Given the description of an element on the screen output the (x, y) to click on. 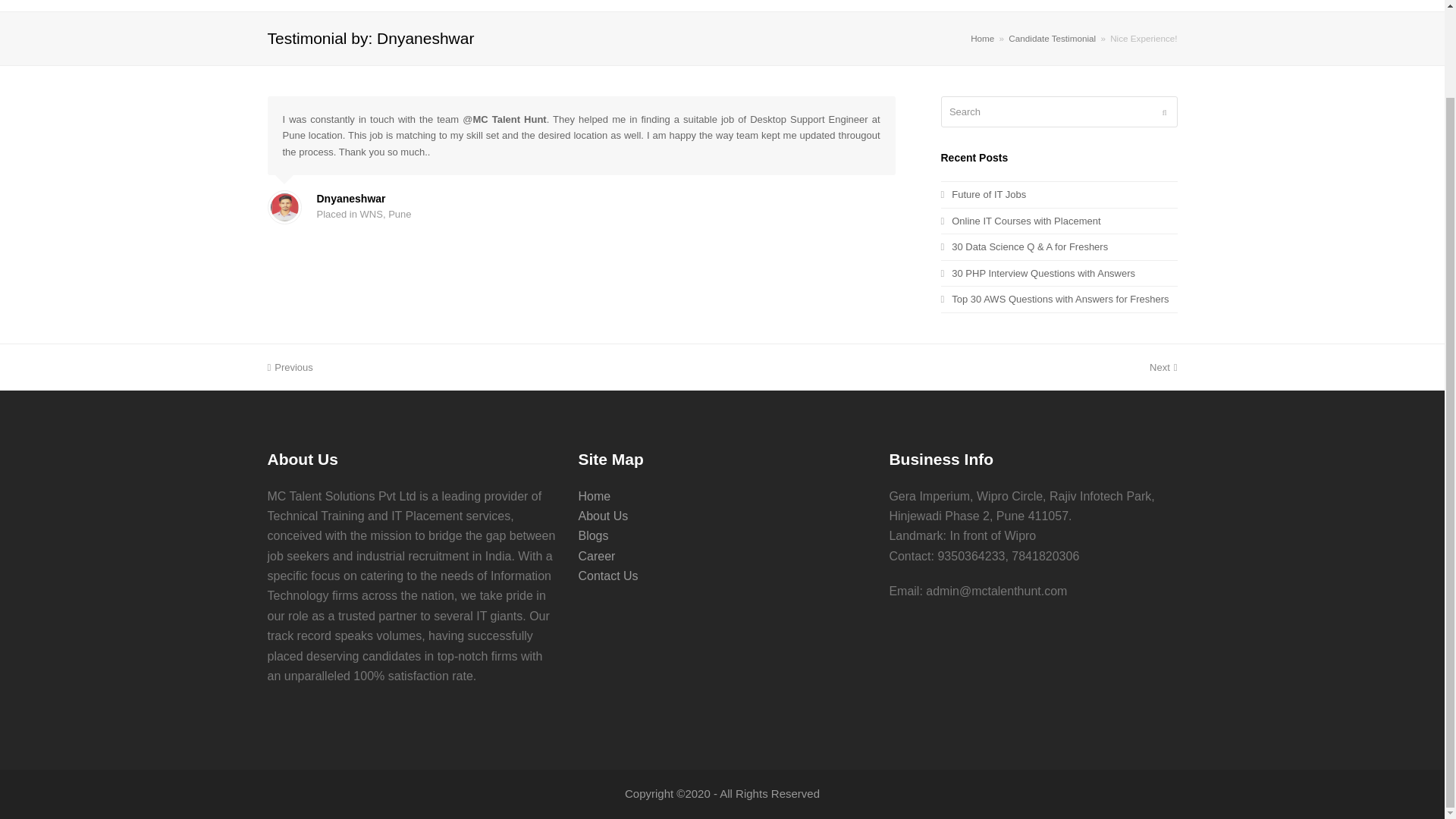
Online IT Courses with Placement (1020, 220)
30 PHP Interview Questions with Answers (1037, 273)
Future of IT Jobs (983, 194)
Home (982, 38)
Candidate Testimonial (1052, 38)
